Given the description of an element on the screen output the (x, y) to click on. 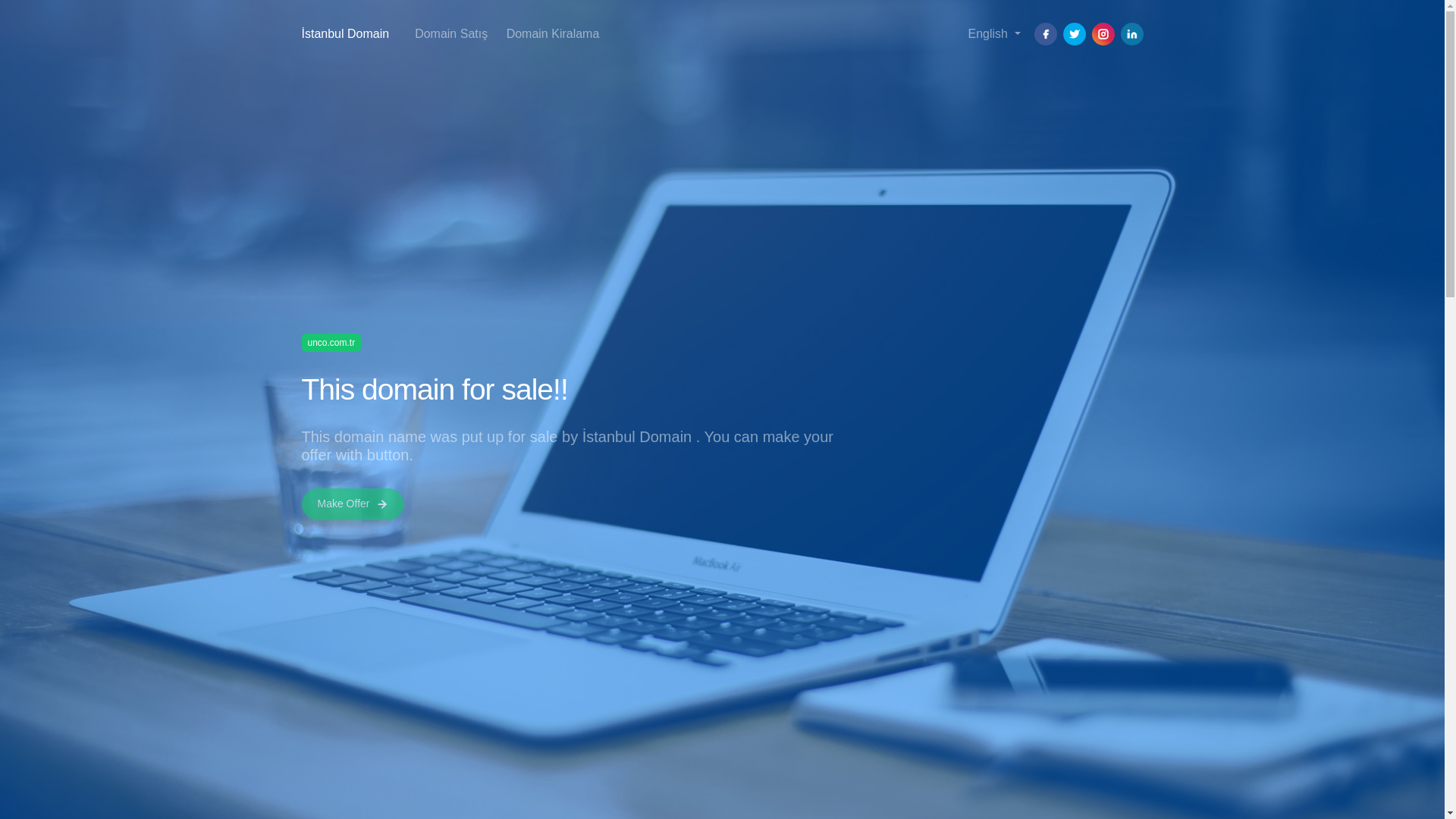
English (993, 33)
Make Offer (352, 504)
Domain Kiralama (553, 33)
